Given the description of an element on the screen output the (x, y) to click on. 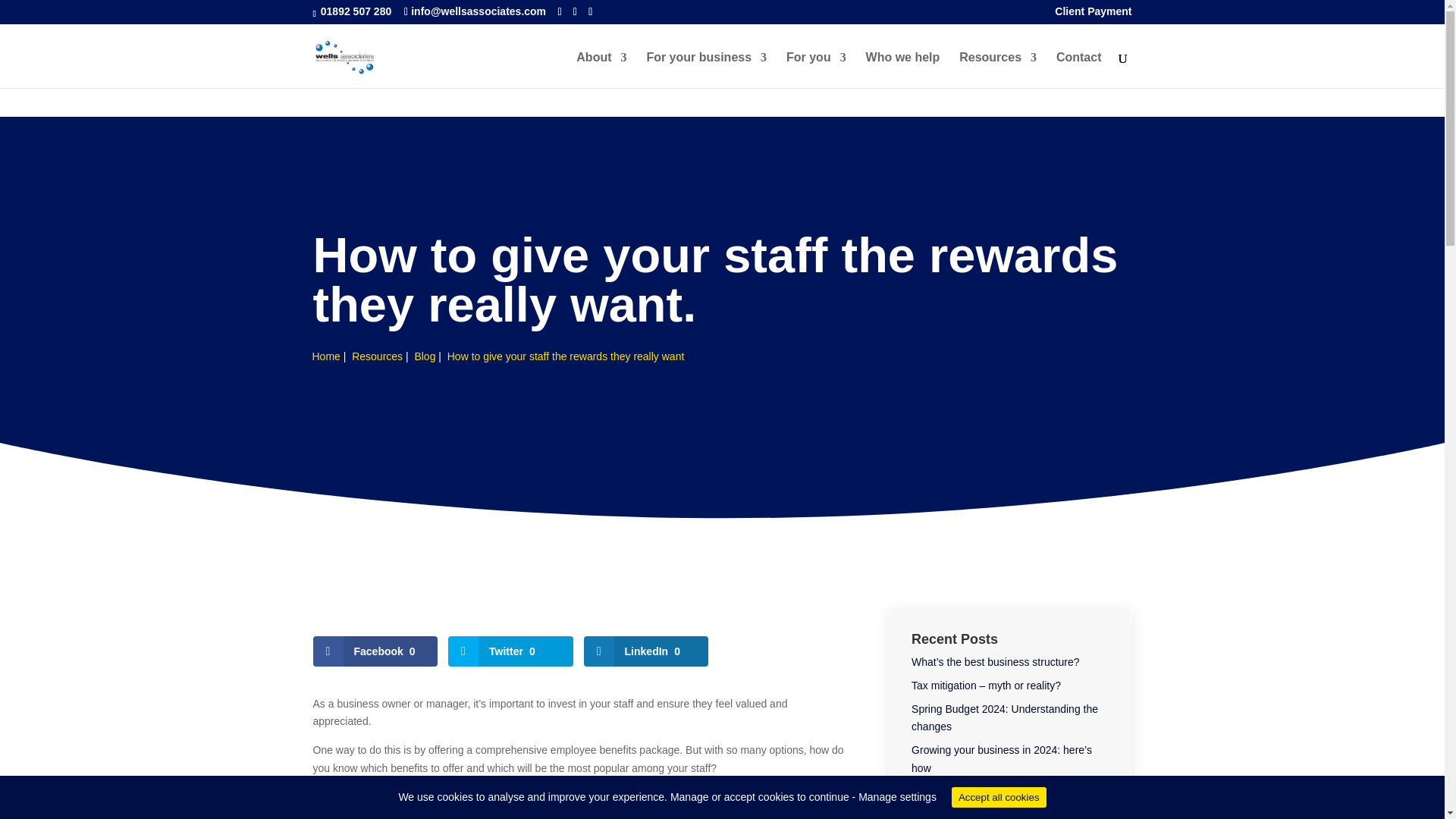
01892 507 280 (355, 10)
